Given the description of an element on the screen output the (x, y) to click on. 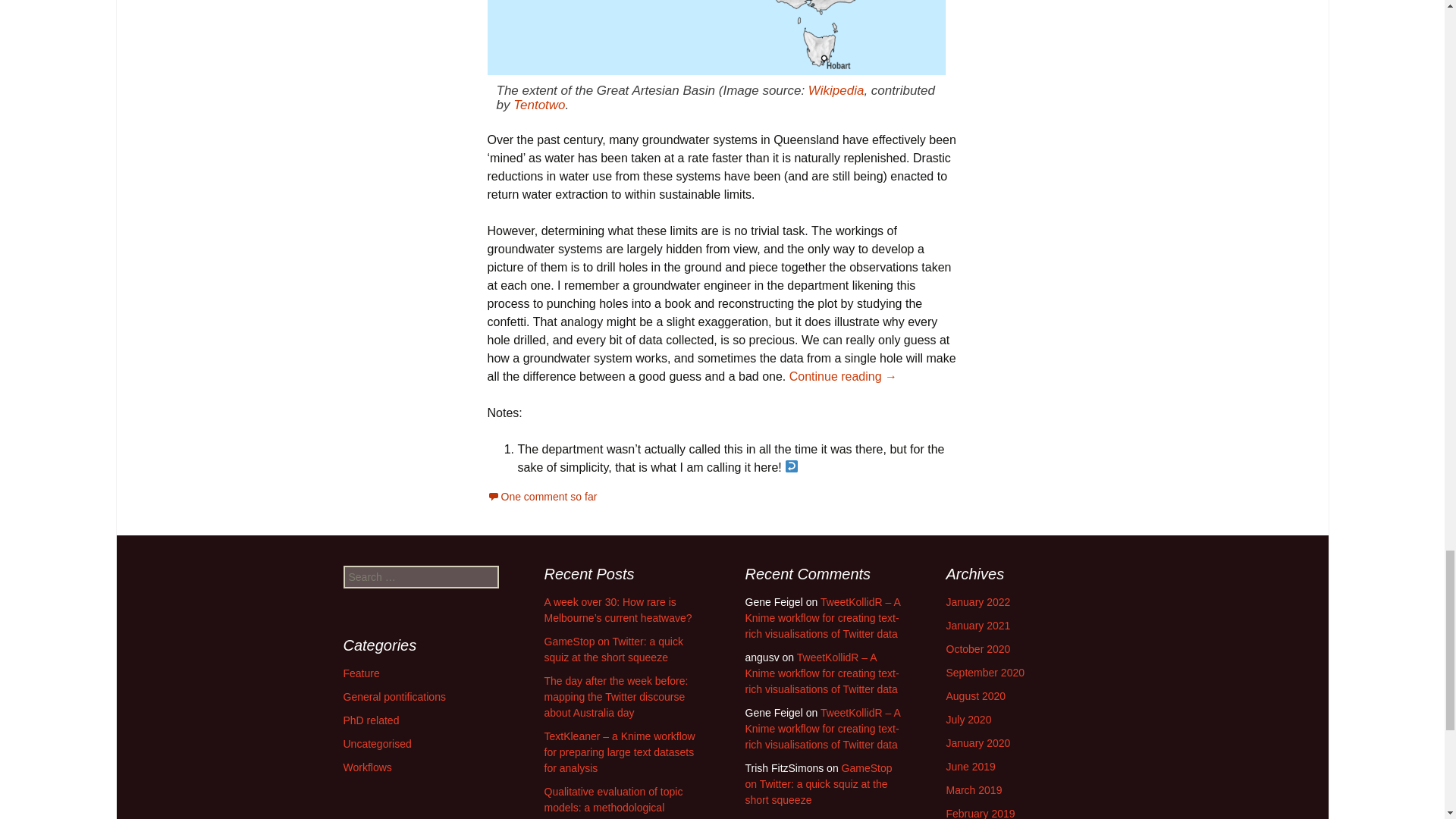
User:Tentotwo (538, 104)
